Given the description of an element on the screen output the (x, y) to click on. 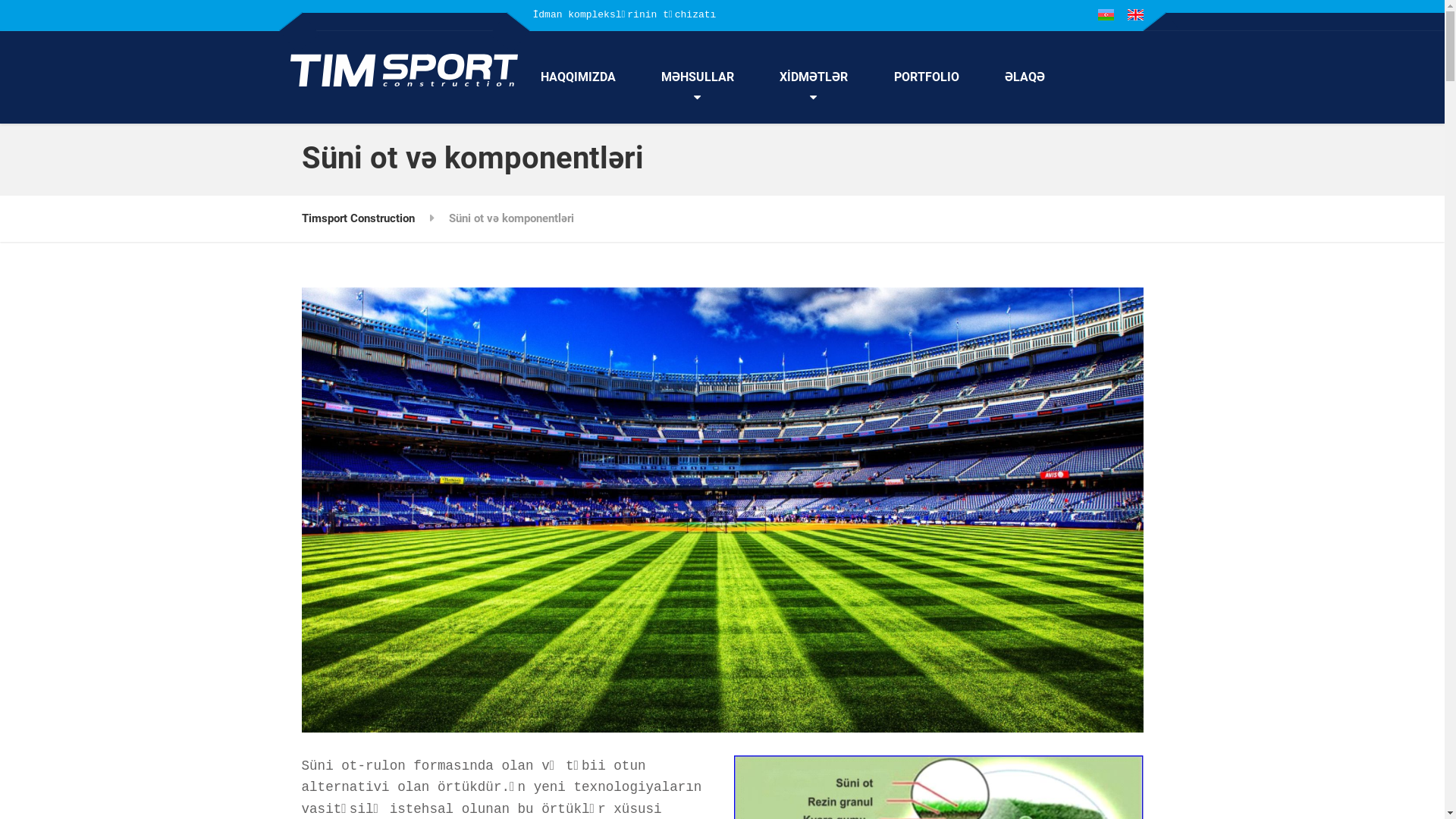
Timsport Construction Element type: text (357, 218)
HAQQIMIZDA Element type: text (577, 77)
PORTFOLIO Element type: text (926, 77)
English Element type: hover (1134, 14)
